Given the description of an element on the screen output the (x, y) to click on. 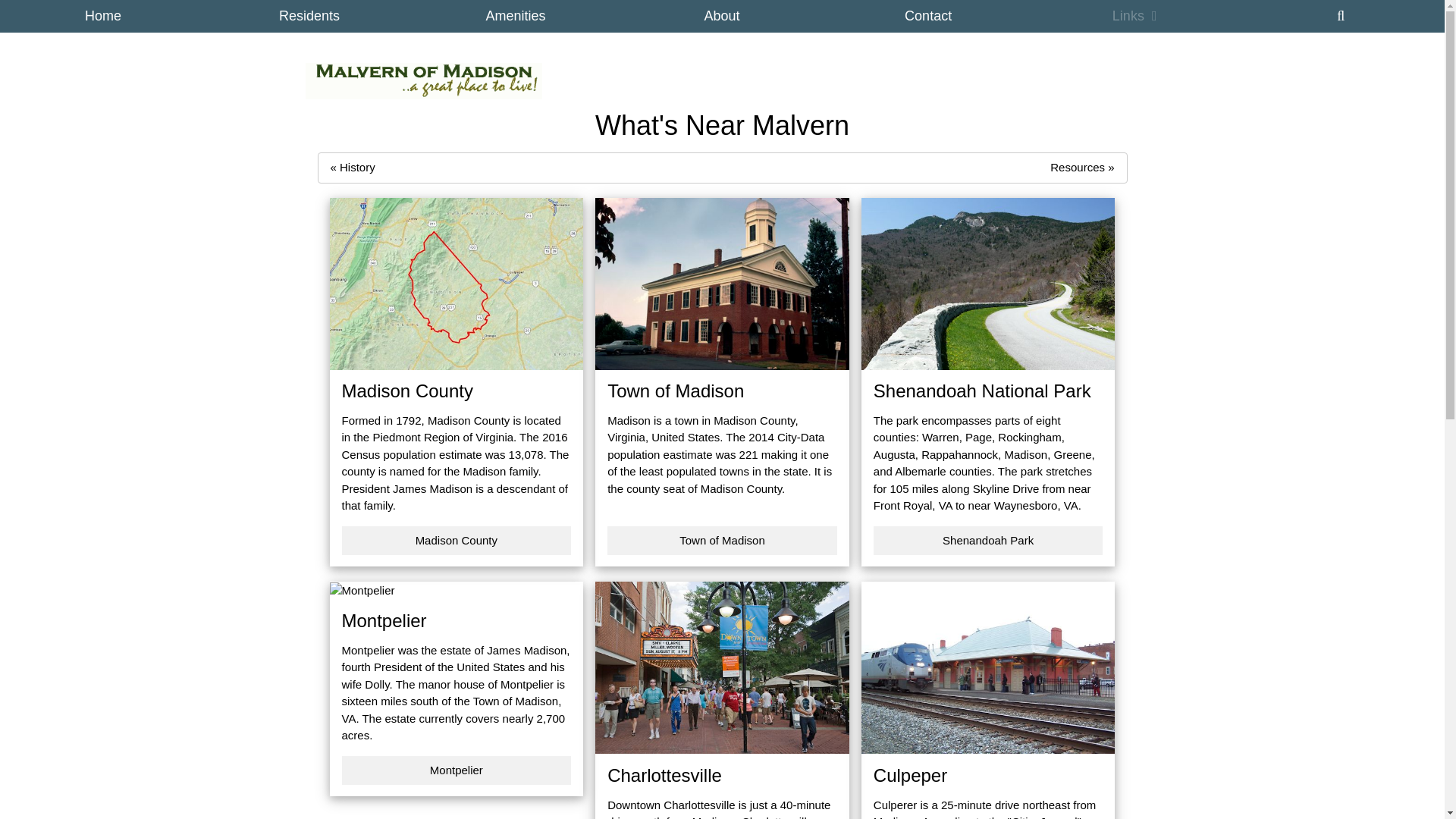
Dolly (376, 684)
Contact (927, 16)
Shenandoah Park (988, 541)
Home (103, 16)
Residents (309, 16)
Town of Madison (722, 541)
Amenities (515, 16)
Links   (1134, 16)
Madison (628, 420)
Piedmont Region (416, 436)
Madison County (468, 420)
Madison County (455, 541)
James Madison (432, 488)
Montpelier (455, 770)
James Madison (526, 649)
